Given the description of an element on the screen output the (x, y) to click on. 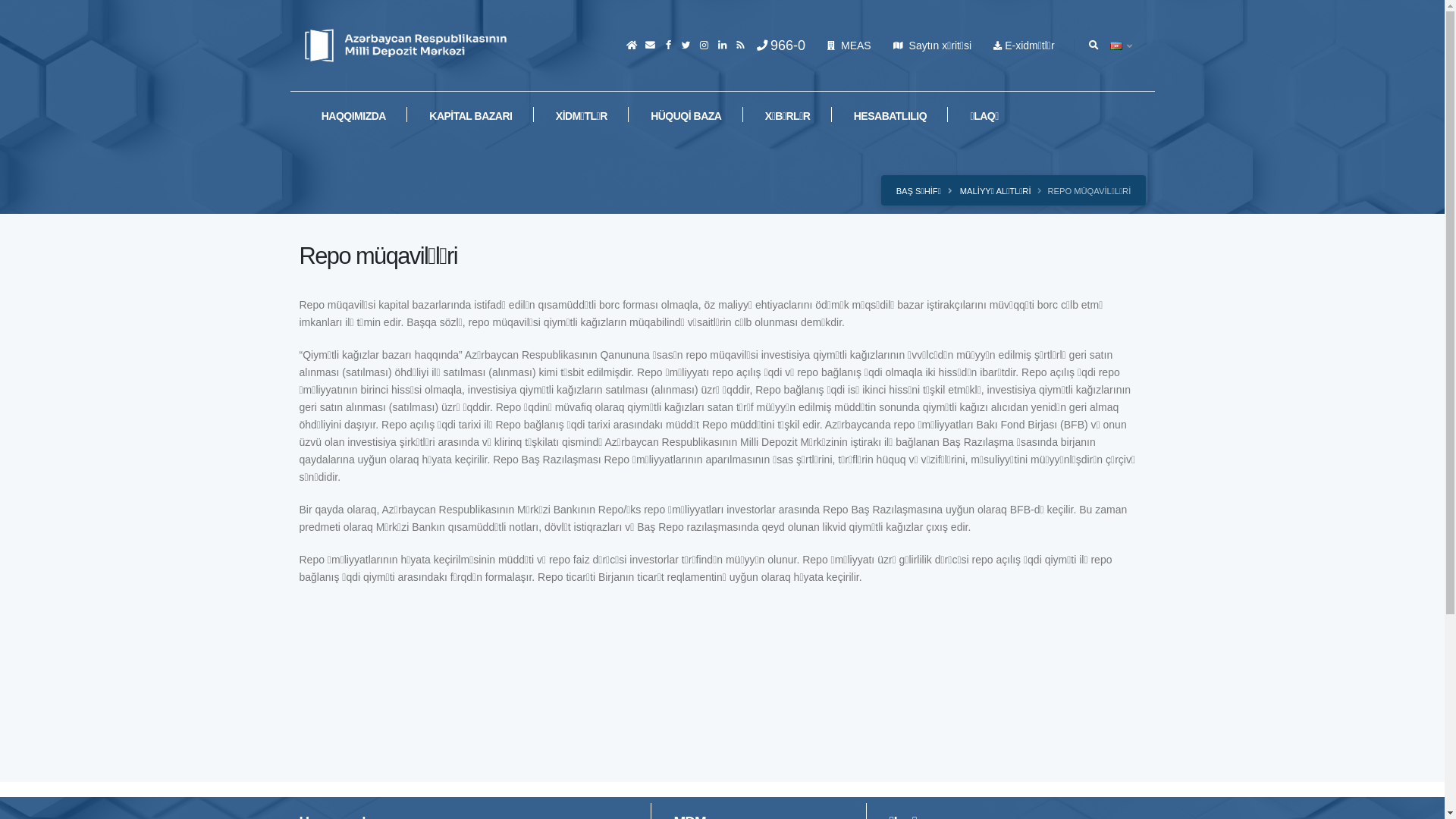
966-0 Element type: text (781, 45)
KAPITAL BAZARI Element type: text (470, 115)
MEAS Element type: text (849, 45)
HESABATLILIQ Element type: text (890, 115)
HAQQIMIZDA Element type: text (353, 115)
